Given the description of an element on the screen output the (x, y) to click on. 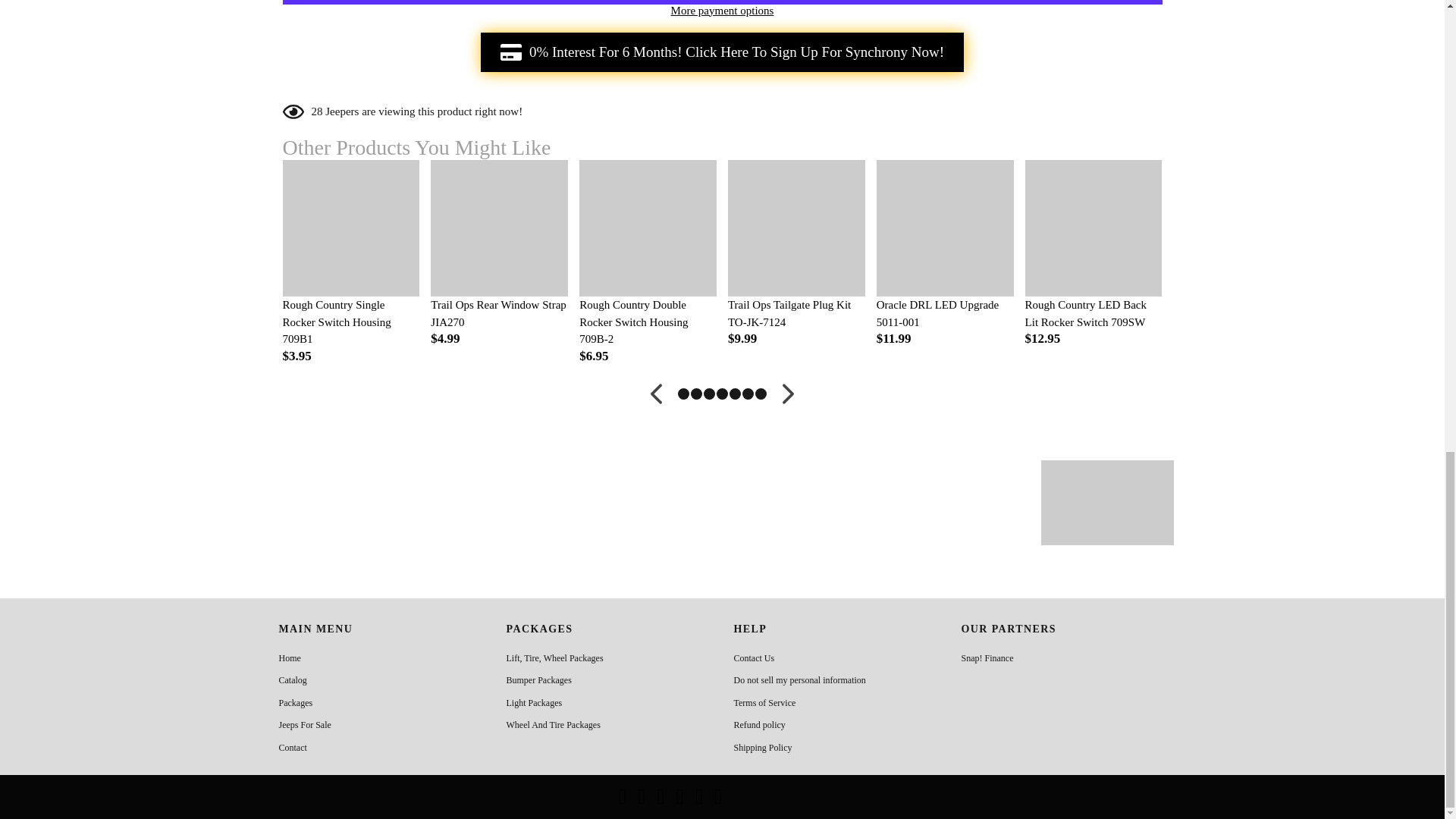
More payment options (721, 10)
Trail Ops Rear Window Strap JIA270 (498, 313)
Synchrony Car Care Sign Up (721, 52)
Rough Country Single Rocker Switch Housing 709B1 (350, 322)
